Given the description of an element on the screen output the (x, y) to click on. 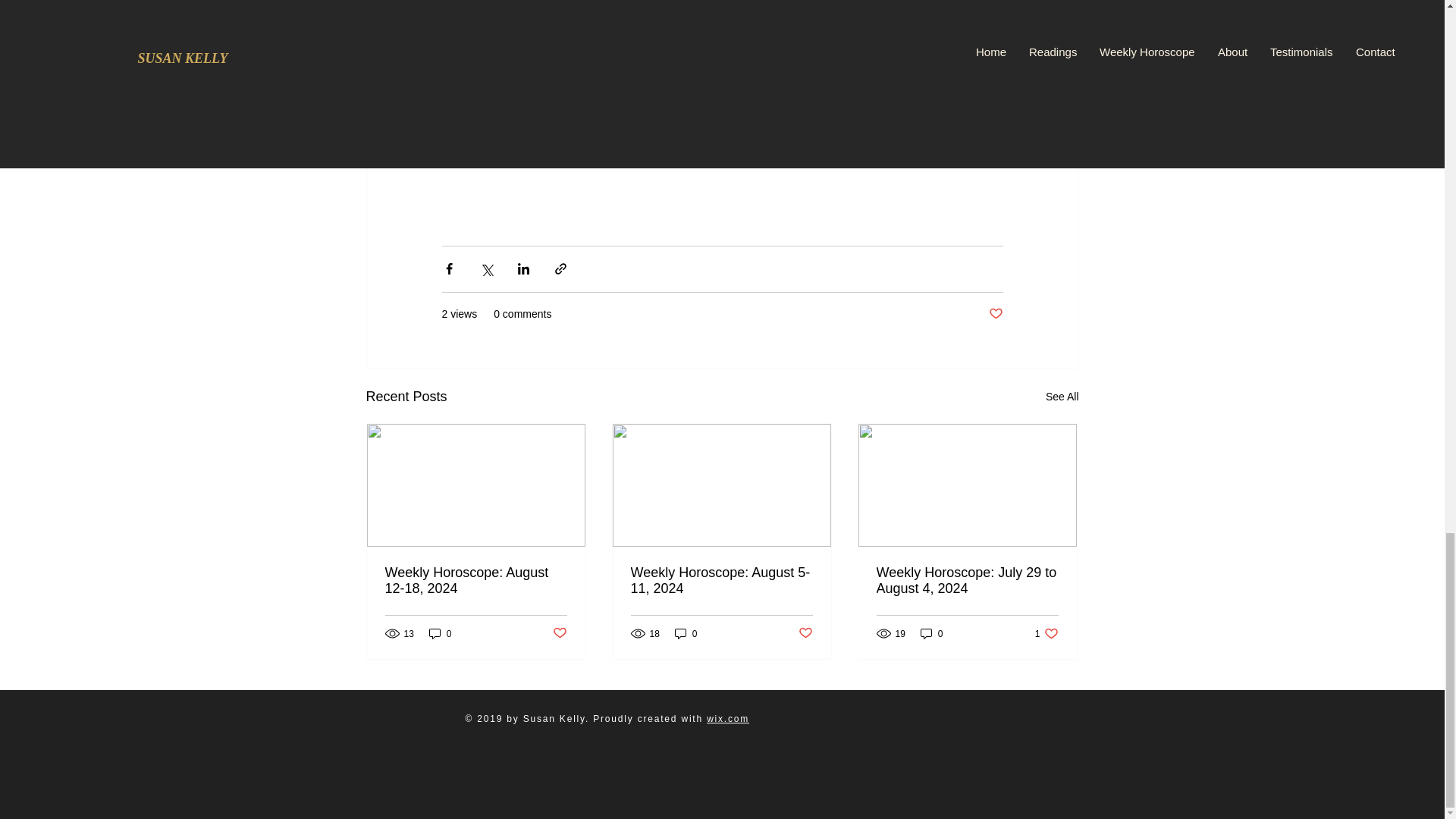
wix.com (727, 718)
Post not marked as liked (804, 633)
0 (931, 633)
Post not marked as liked (995, 314)
See All (1061, 396)
0 (440, 633)
Weekly Horoscope: July 29 to August 4, 2024 (967, 581)
Weekly Horoscope: August 5-11, 2024 (721, 581)
0 (1046, 633)
